Given the description of an element on the screen output the (x, y) to click on. 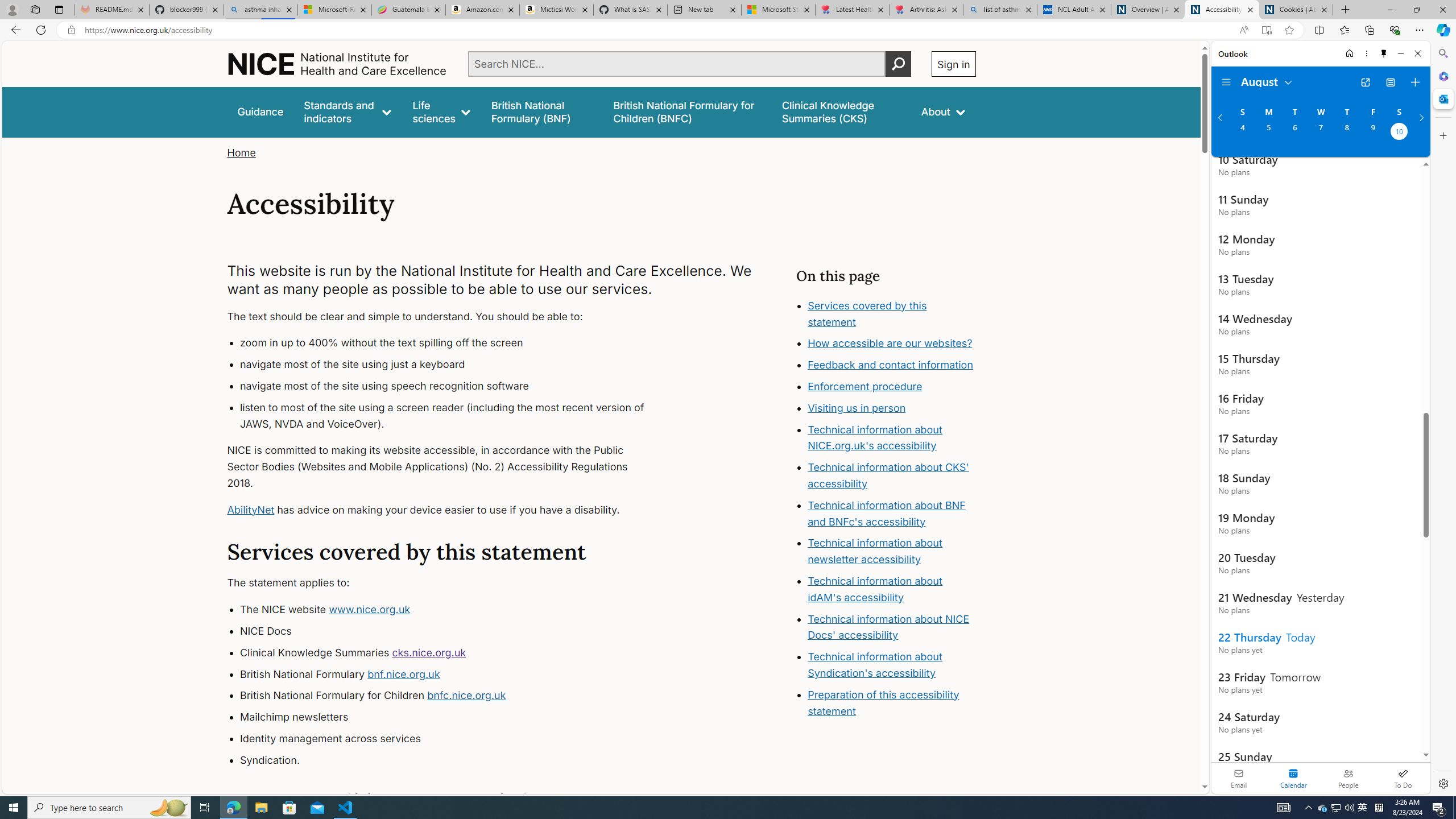
Services covered by this statement (867, 313)
Saturday, August 10, 2024. Date selected.  (1399, 132)
www.nice.org.uk (369, 609)
bnfc.nice.org.uk (466, 695)
British National Formulary for Children bnfc.nice.org.uk (452, 695)
British National Formulary for Children (BNFC) (686, 111)
Visiting us in person (891, 407)
